Given the description of an element on the screen output the (x, y) to click on. 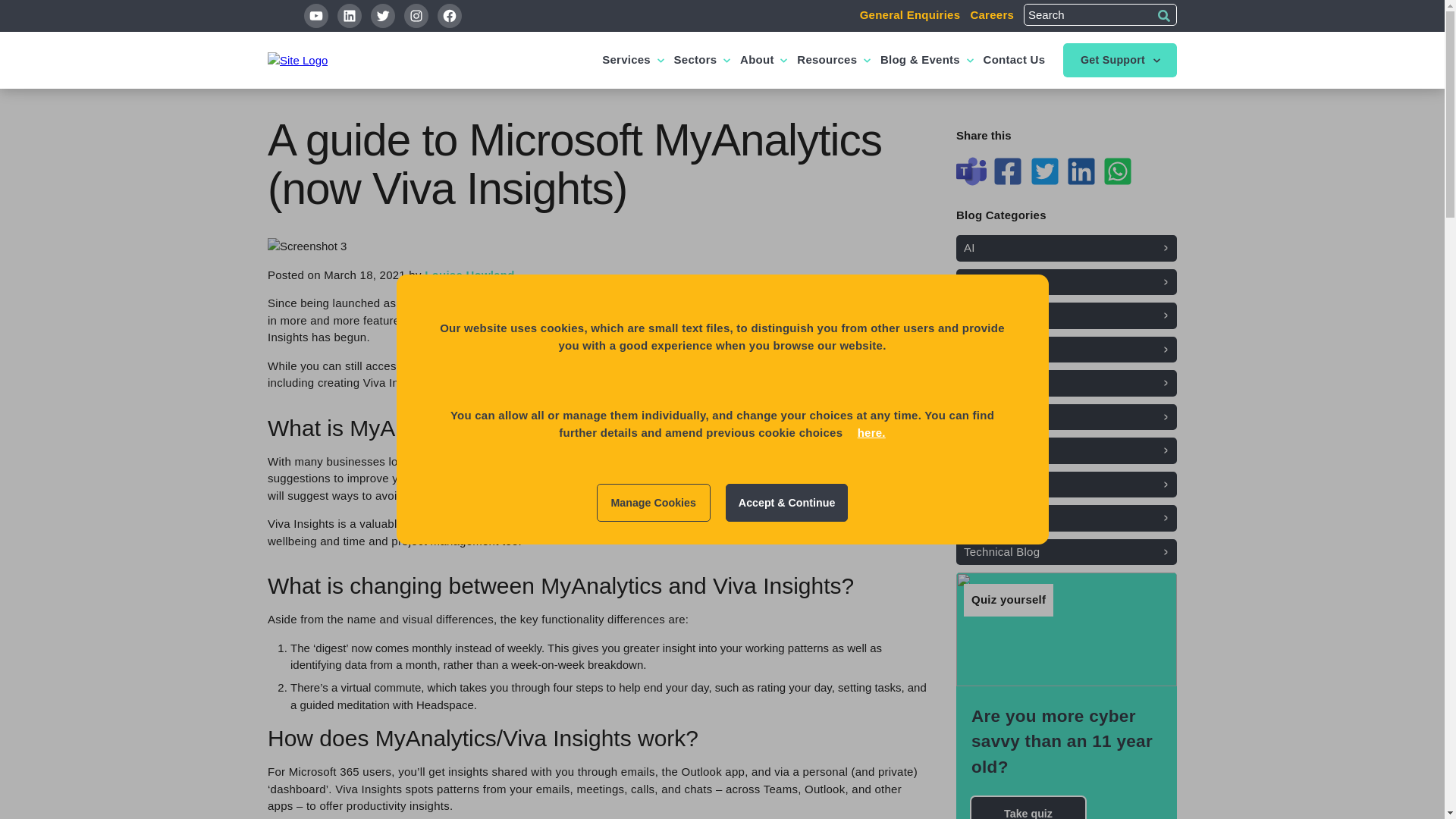
General Enquiries (910, 14)
Sectors (694, 60)
YouTube (316, 15)
LinkedIn (349, 15)
Careers (991, 14)
Twitter (382, 15)
Services (625, 60)
Facebook (449, 15)
Instagram (416, 15)
Search (1163, 15)
